Given the description of an element on the screen output the (x, y) to click on. 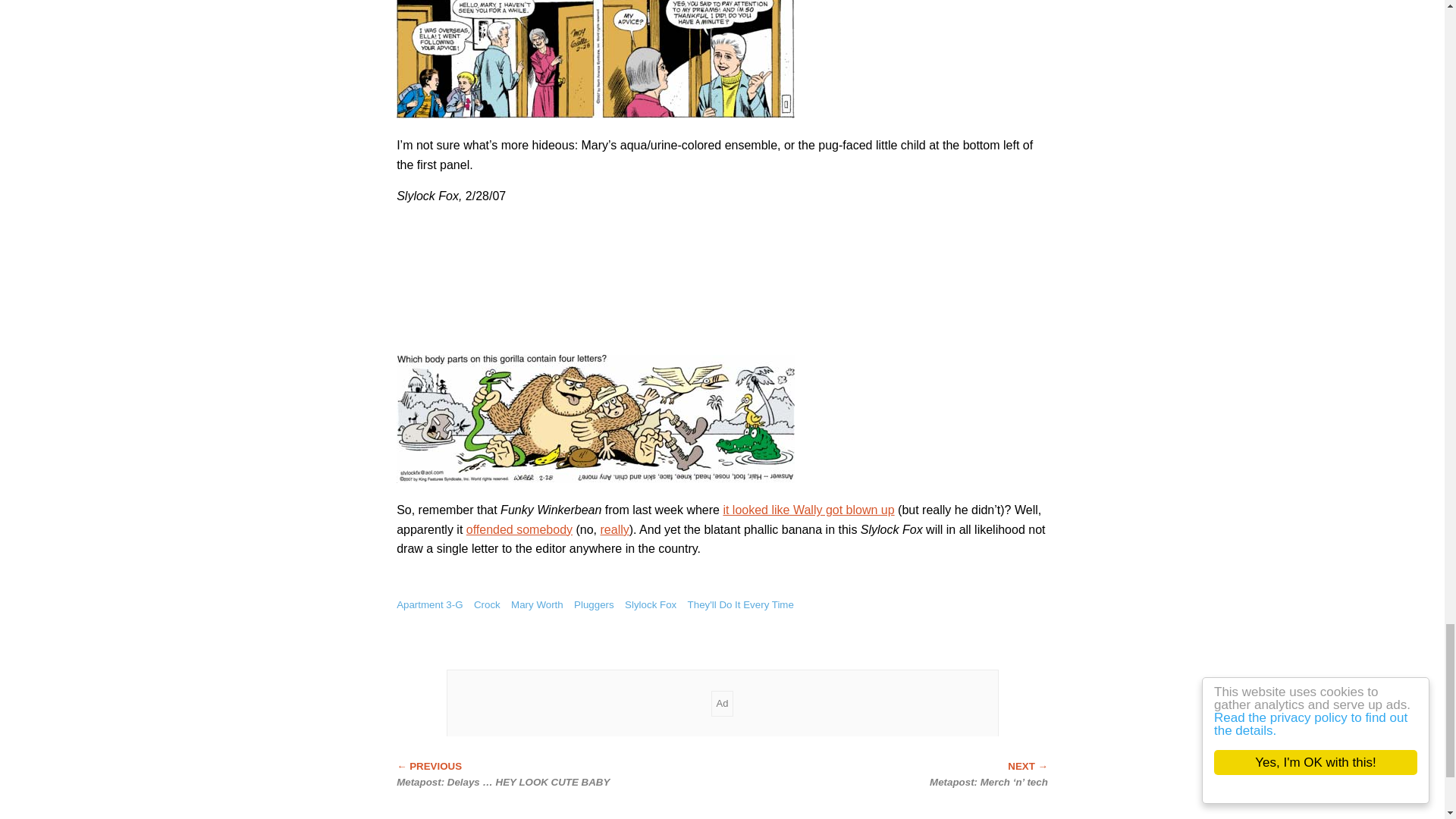
offended somebody (518, 529)
They'll Do It Every Time (740, 604)
it looked like Wally got blown up (807, 509)
really (613, 529)
Apartment 3-G (429, 604)
Crock (487, 604)
Pluggers (593, 604)
Slylock Fox (650, 604)
Mary Worth (537, 604)
